Given the description of an element on the screen output the (x, y) to click on. 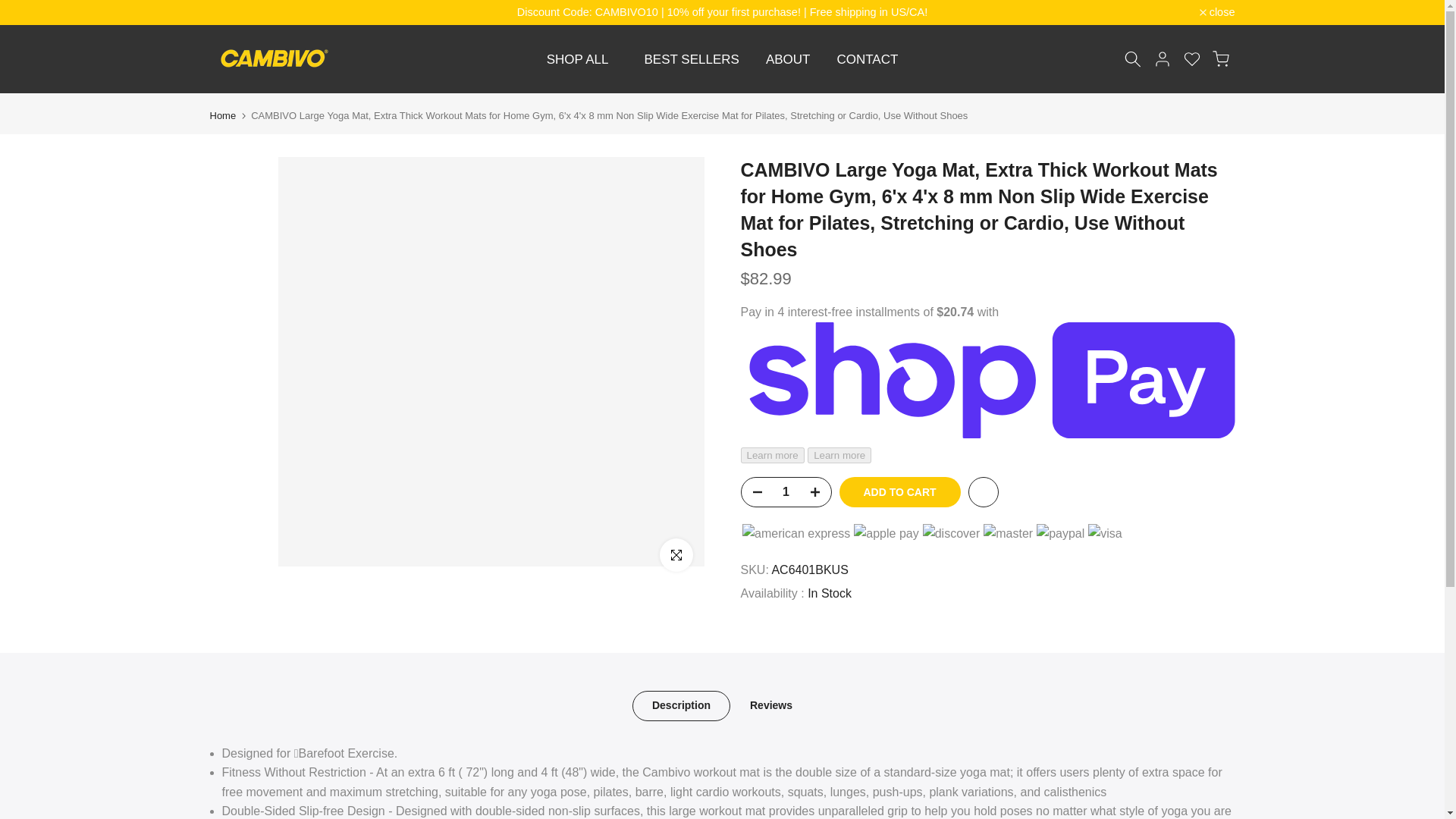
BEST SELLERS (691, 59)
CONTACT (867, 59)
Description (680, 706)
1 (786, 491)
Skip to content (10, 7)
Reviews (771, 706)
Home (222, 115)
ABOUT (788, 59)
SHOP ALL (581, 59)
ADD TO CART (898, 491)
